Given the description of an element on the screen output the (x, y) to click on. 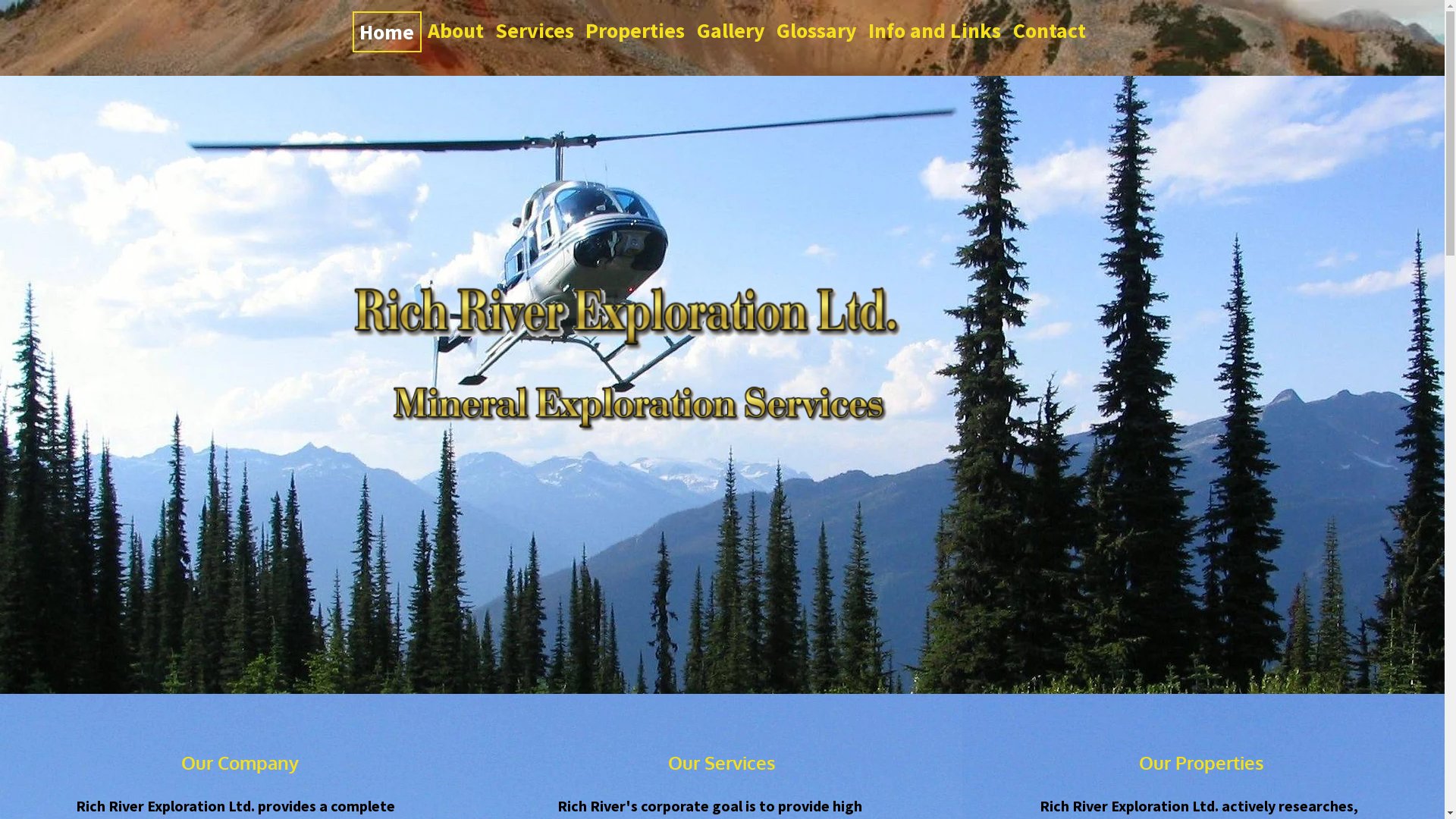
Contact Element type: text (1049, 30)
Properties Element type: text (635, 30)
About Element type: text (455, 30)
Services Element type: text (534, 30)
Glossary Element type: text (816, 30)
Info and Links Element type: text (934, 30)
Gallery Element type: text (730, 30)
Home Element type: text (385, 31)
